Given the description of an element on the screen output the (x, y) to click on. 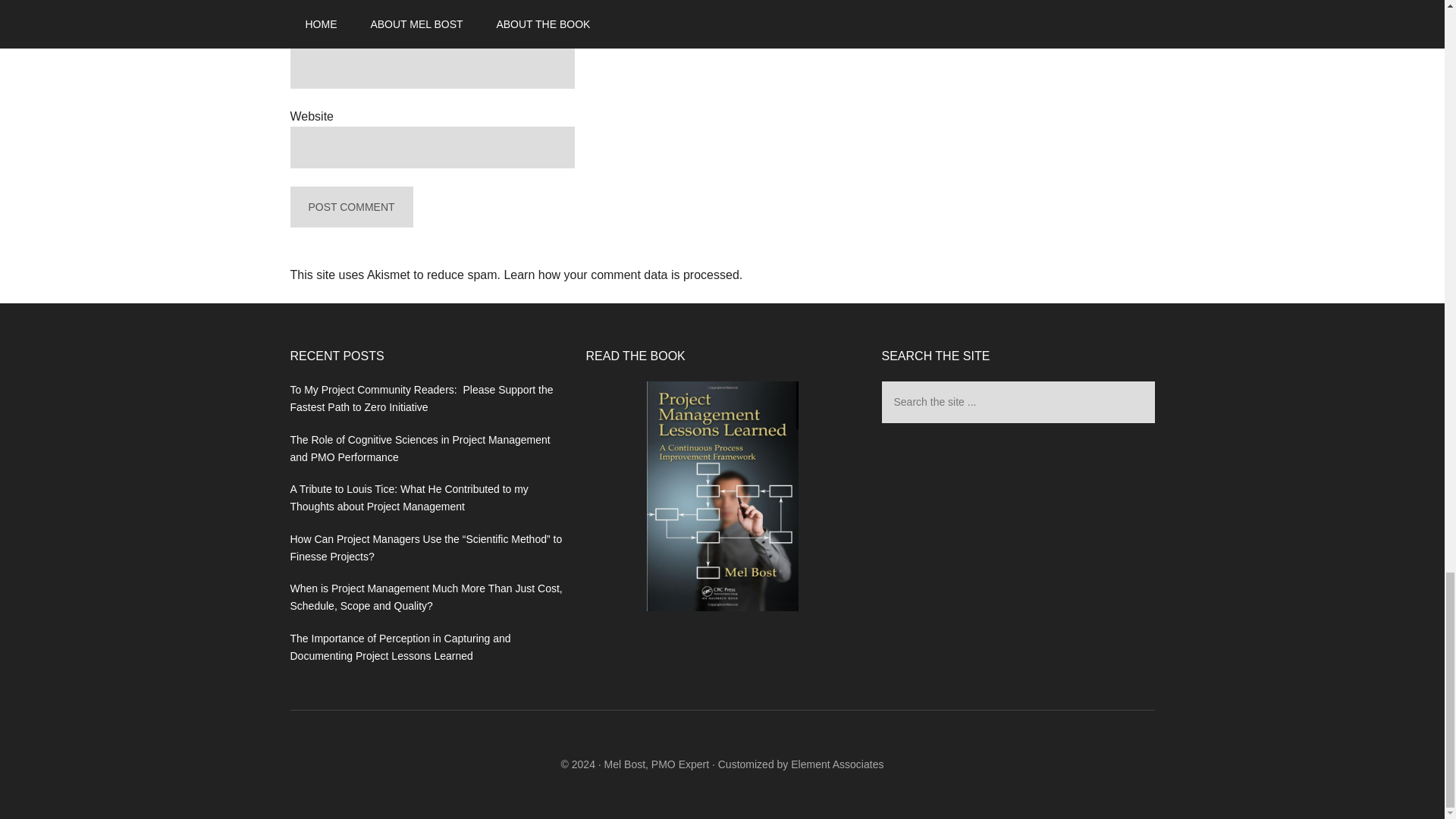
Post Comment (350, 207)
Post Comment (350, 207)
Learn how your comment data is processed (620, 274)
Element Associates (836, 764)
